Given the description of an element on the screen output the (x, y) to click on. 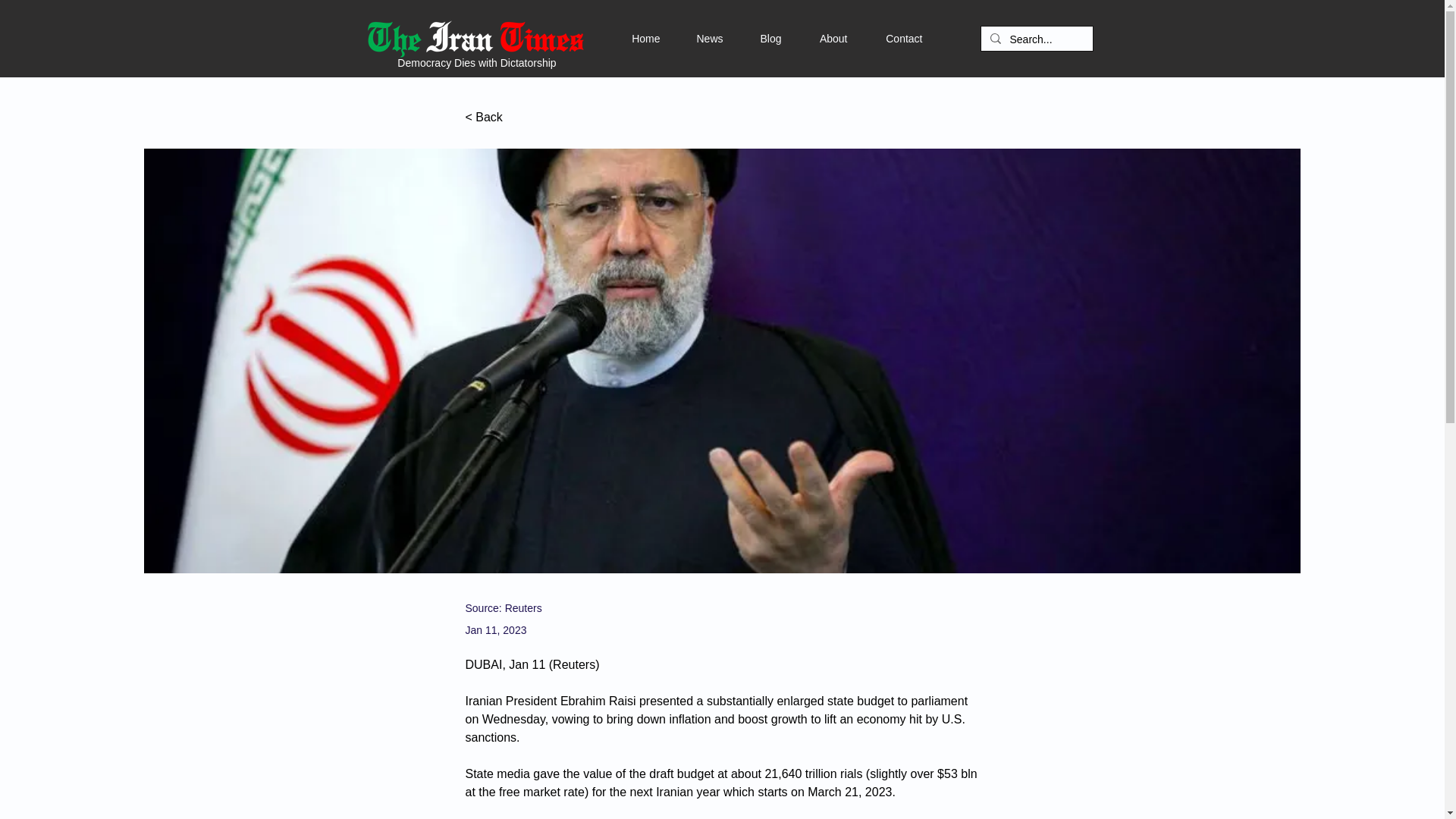
Contact (885, 38)
News (690, 38)
Home (628, 38)
About (813, 38)
Blog (752, 38)
